Given the description of an element on the screen output the (x, y) to click on. 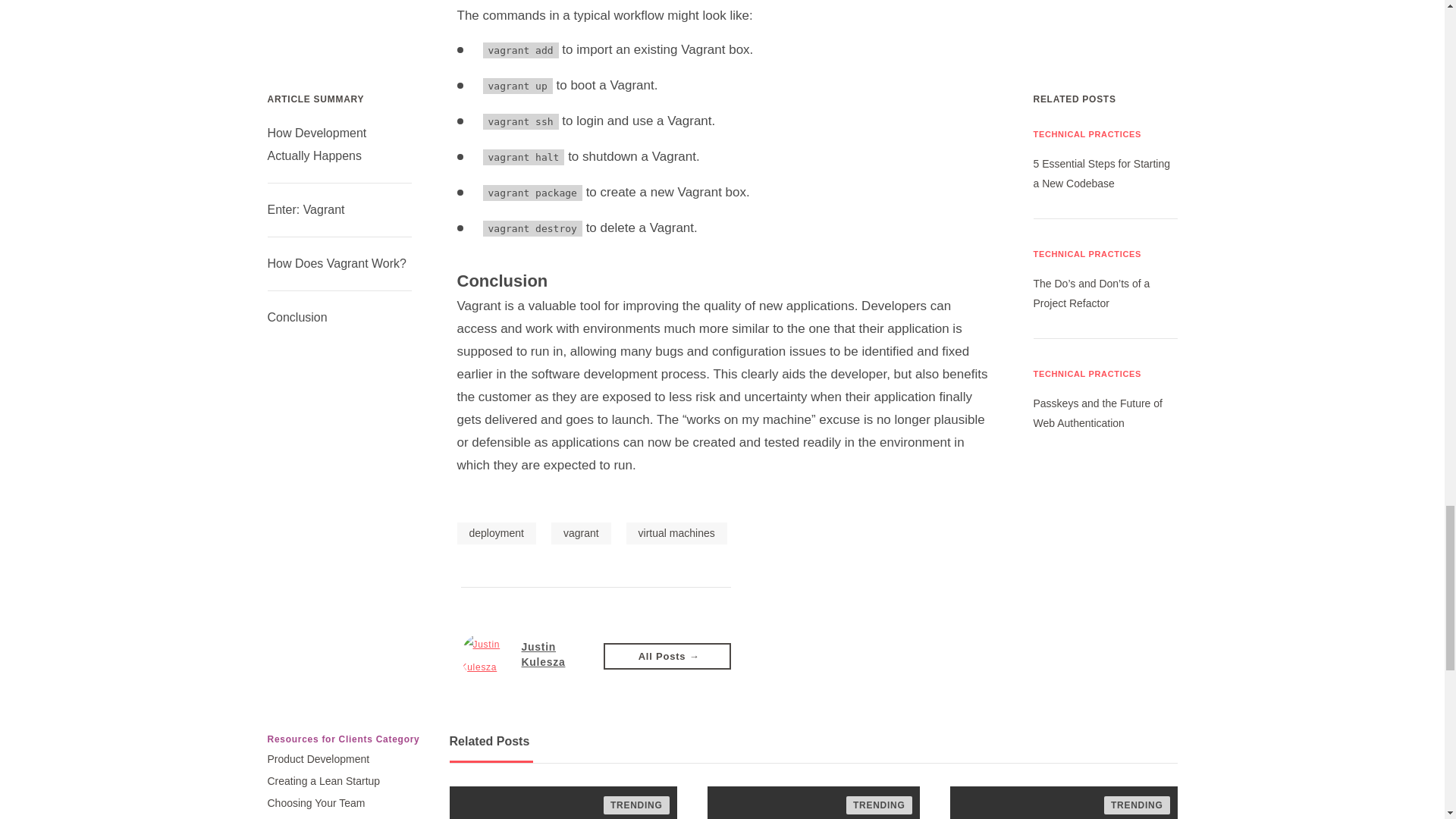
deployment (496, 533)
vagrant (581, 533)
